Given the description of an element on the screen output the (x, y) to click on. 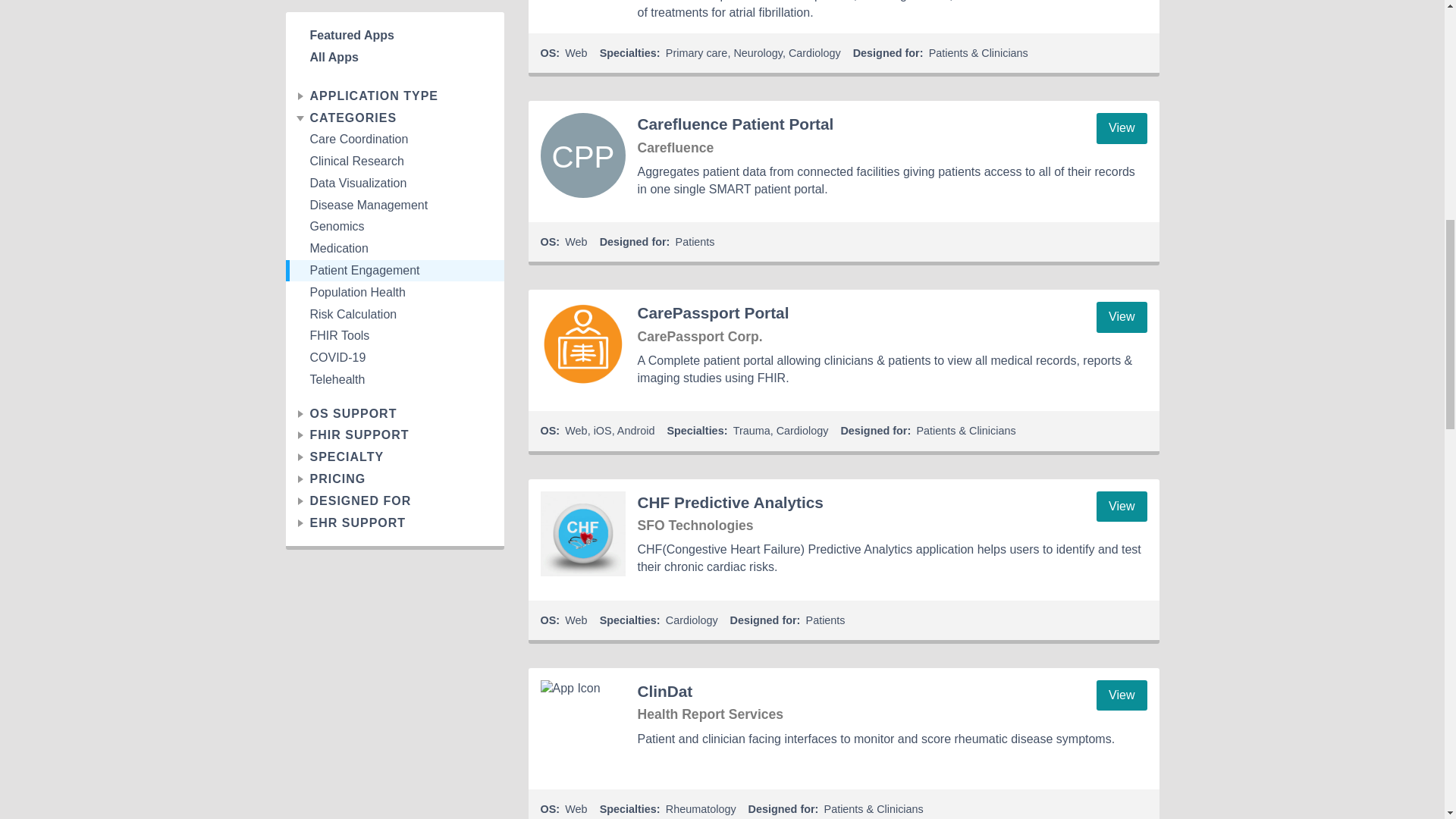
ClinDat (582, 722)
CPP (582, 155)
CHF Predictive Analytics (582, 533)
CarePassport Portal (582, 344)
Carefluence Patient Portal (582, 155)
